Given the description of an element on the screen output the (x, y) to click on. 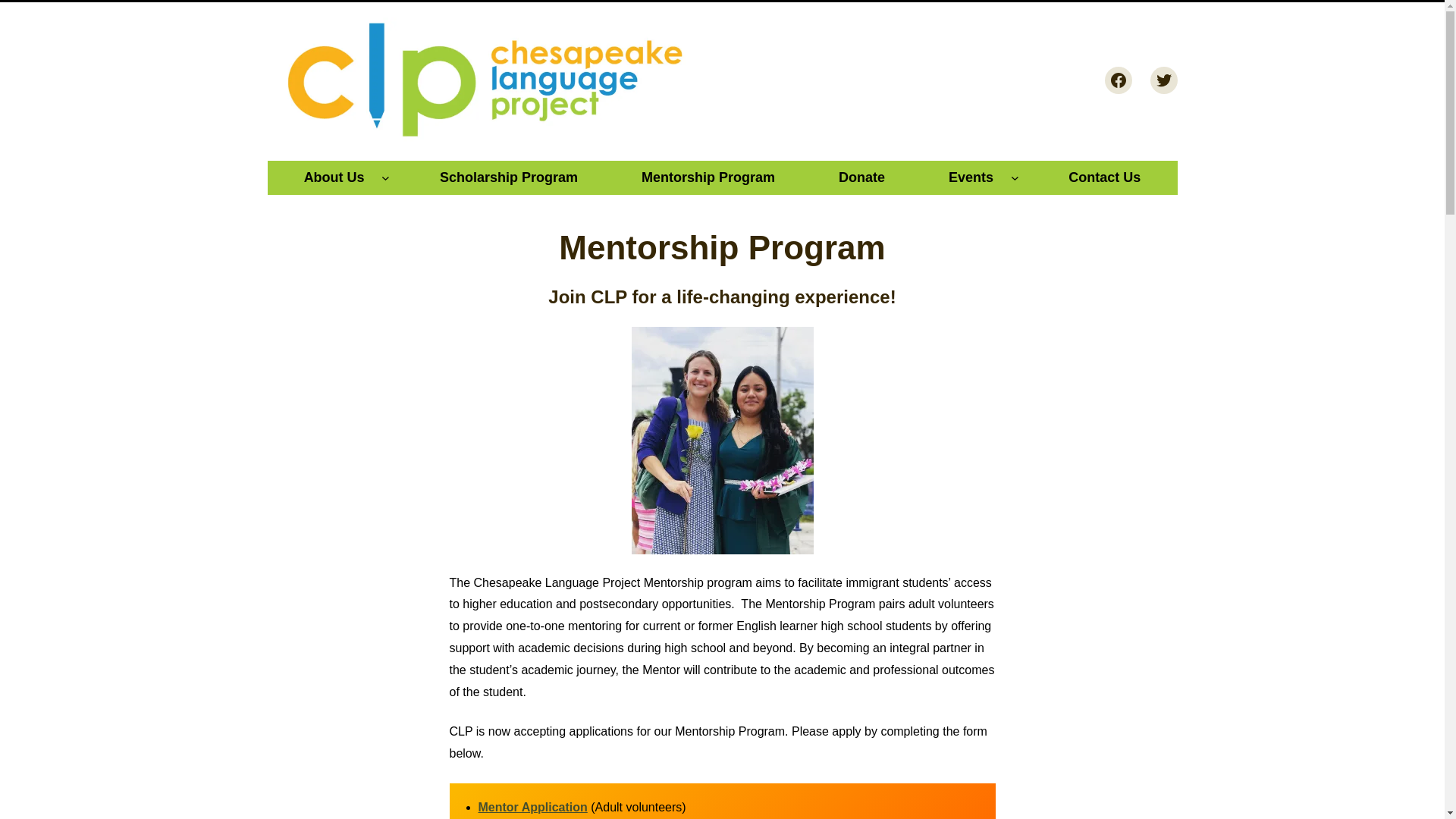
Scholarship Program (508, 177)
Mentorship Program (708, 177)
Mentor Application (531, 807)
Contact Us (1104, 177)
Donate (861, 177)
Facebook (1117, 80)
Twitter (1163, 80)
Events (970, 177)
About Us (333, 177)
